Given the description of an element on the screen output the (x, y) to click on. 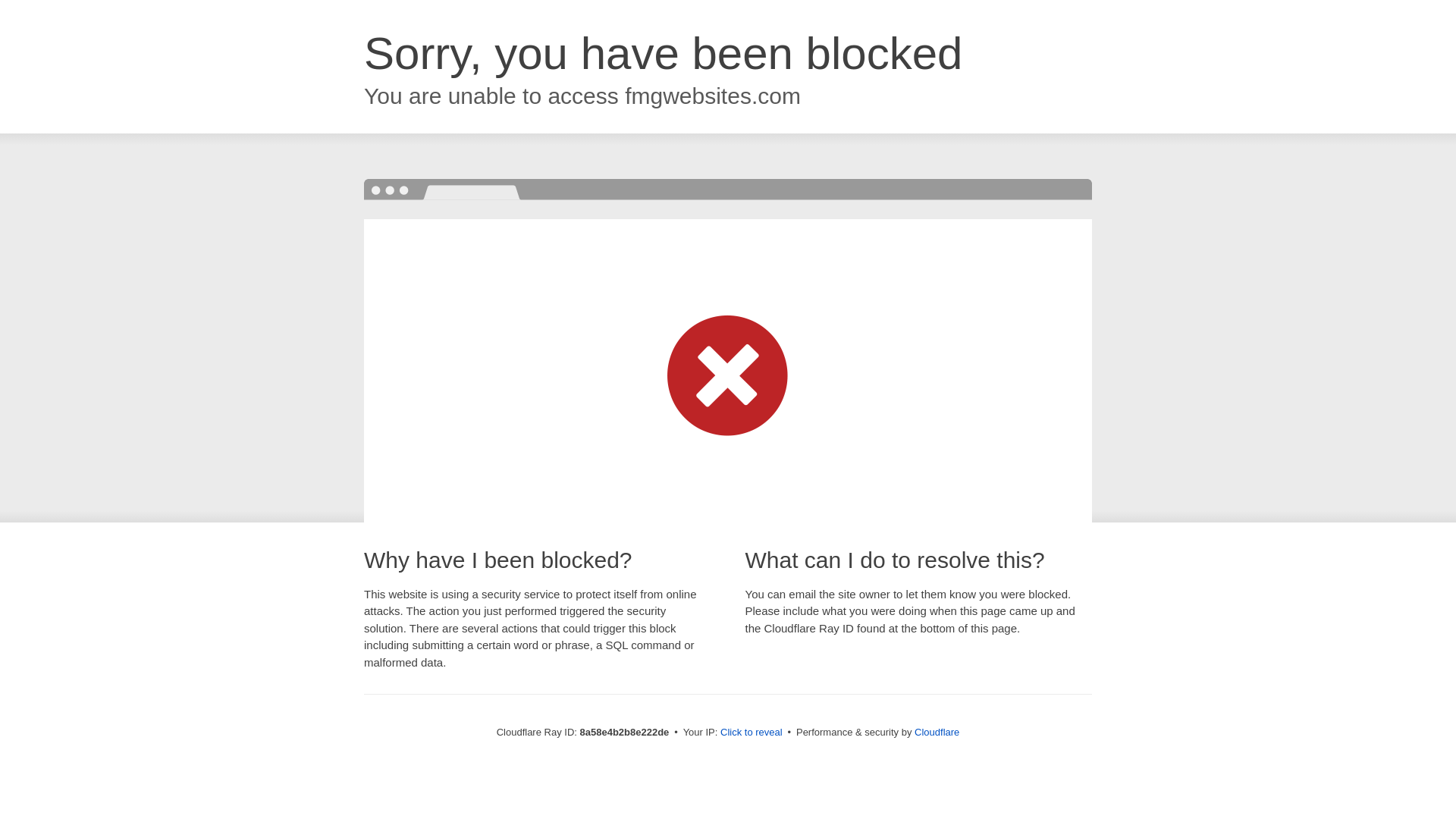
Cloudflare (936, 731)
Click to reveal (751, 732)
